Given the description of an element on the screen output the (x, y) to click on. 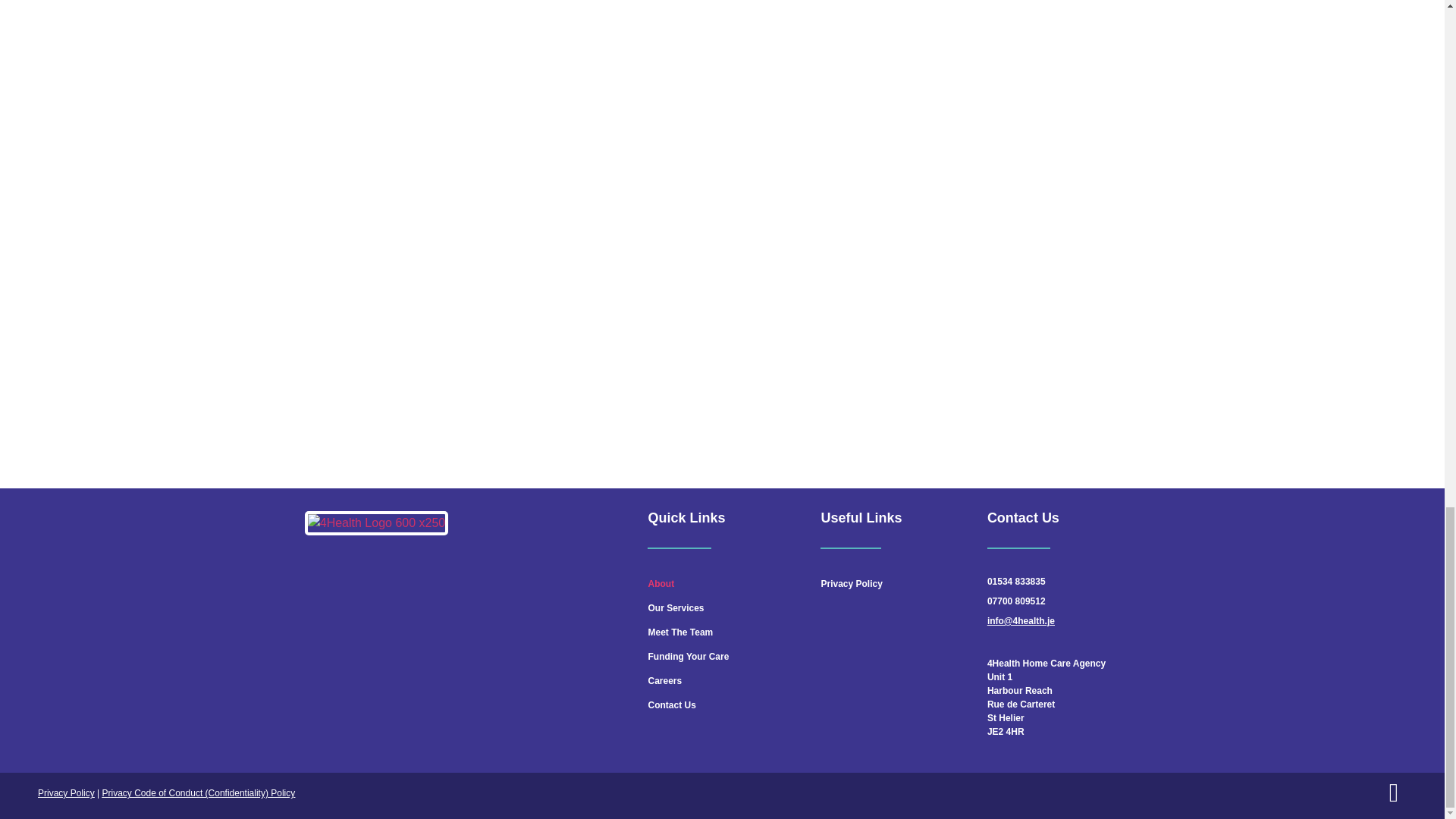
4Health Logo 600 x250 (376, 523)
